Given the description of an element on the screen output the (x, y) to click on. 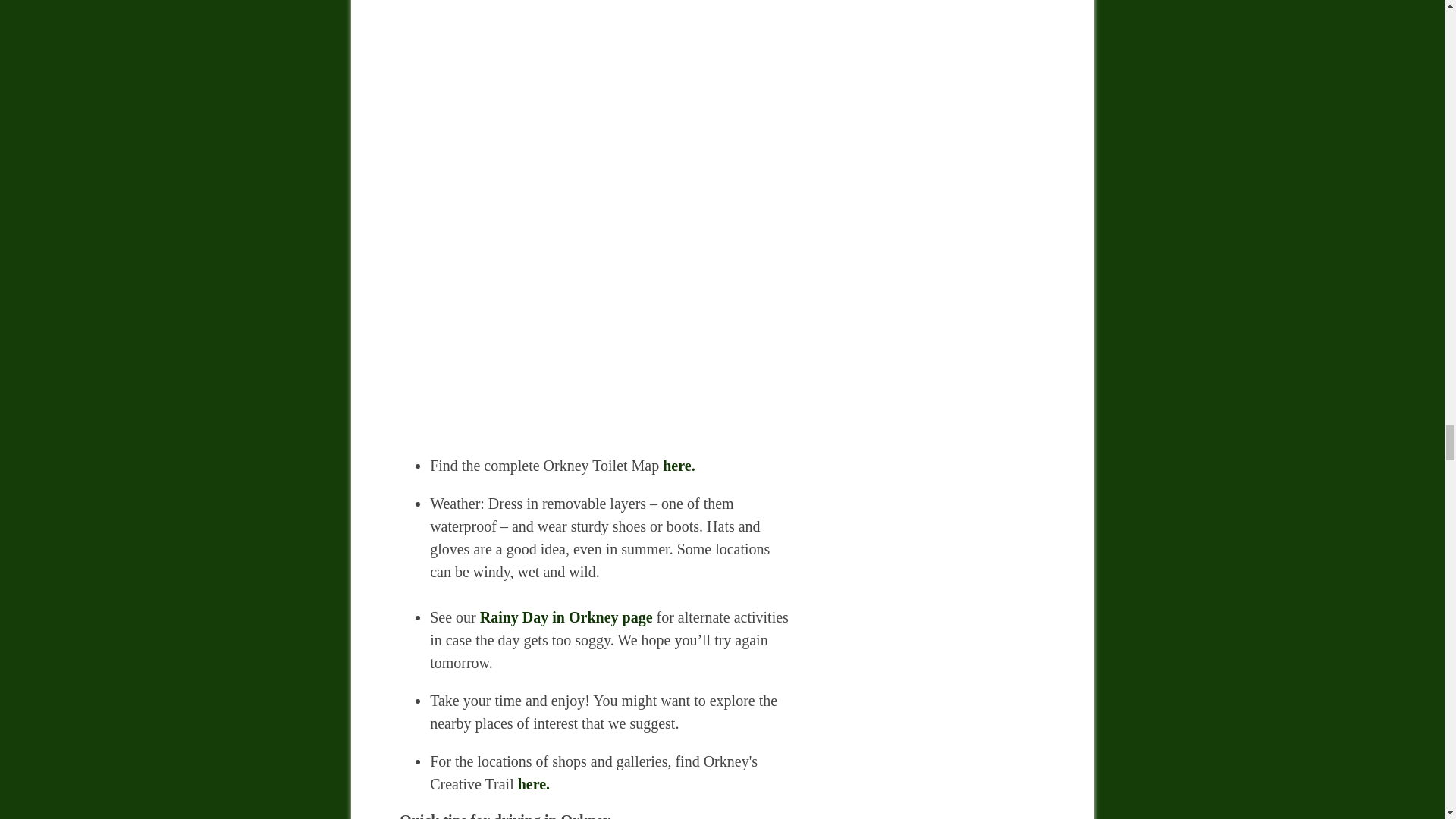
here.  (680, 465)
